Given the description of an element on the screen output the (x, y) to click on. 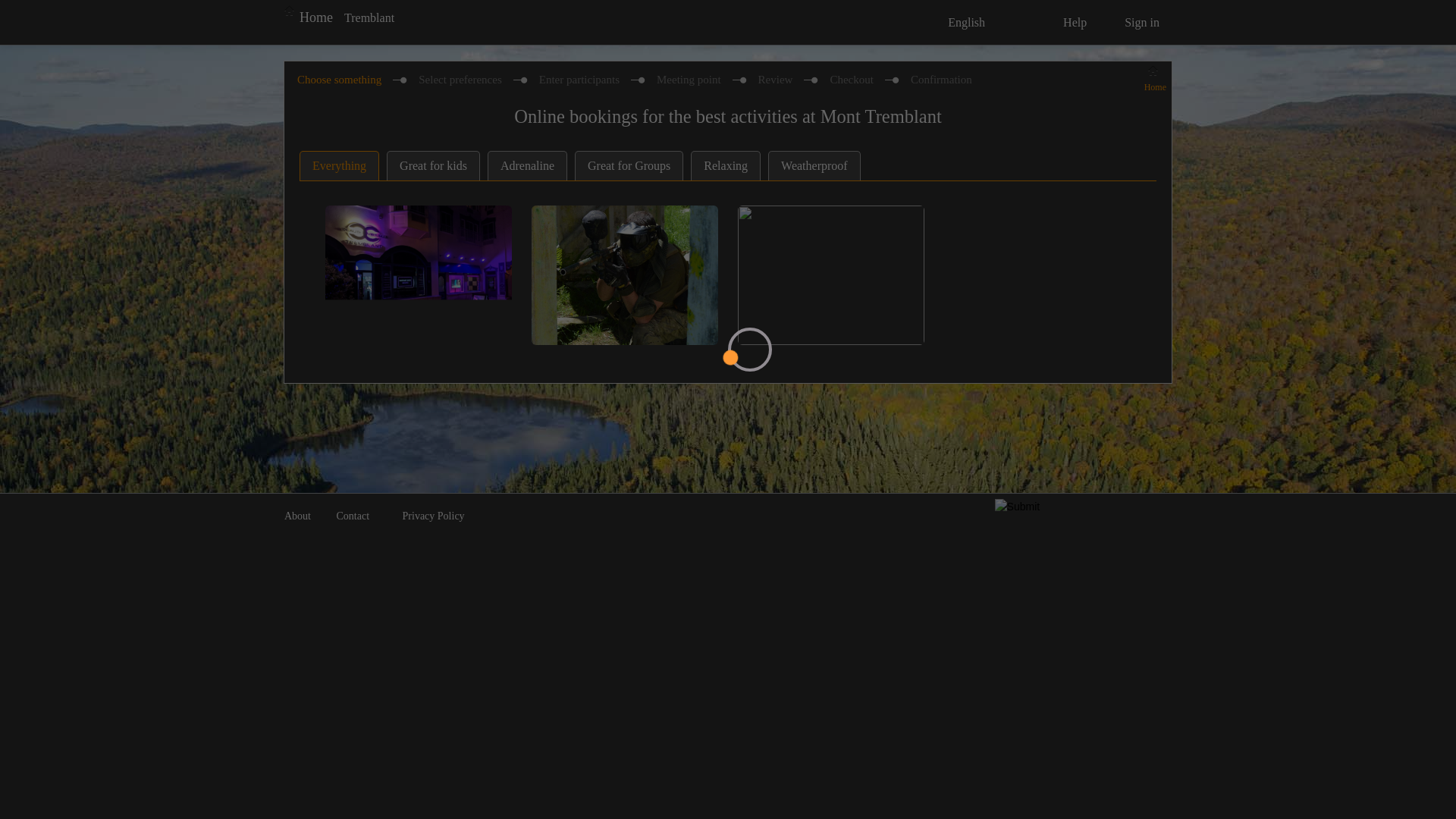
Home Element type: text (308, 17)
Sign in Element type: text (1134, 22)
Enter participants Element type: text (578, 79)
Great for kids Element type: text (433, 165)
Privacy Policy Element type: text (433, 515)
Weatherproof Element type: text (814, 165)
Confirmation Element type: text (941, 79)
About Element type: text (302, 515)
Choose something Element type: text (338, 79)
Review Element type: text (775, 79)
Contact Element type: text (354, 515)
Adrenaline Element type: text (527, 165)
Home Element type: text (1155, 79)
Help Element type: text (1060, 22)
Great for Groups Element type: text (628, 165)
  English Element type: text (972, 22)
Next Element type: text (17, 9)
Relaxing Element type: text (725, 165)
Checkout Element type: text (851, 79)
Meeting point Element type: text (688, 79)
Select preferences Element type: text (460, 79)
Call Event From Js Element type: text (50, 9)
Everything Element type: text (339, 165)
